Given the description of an element on the screen output the (x, y) to click on. 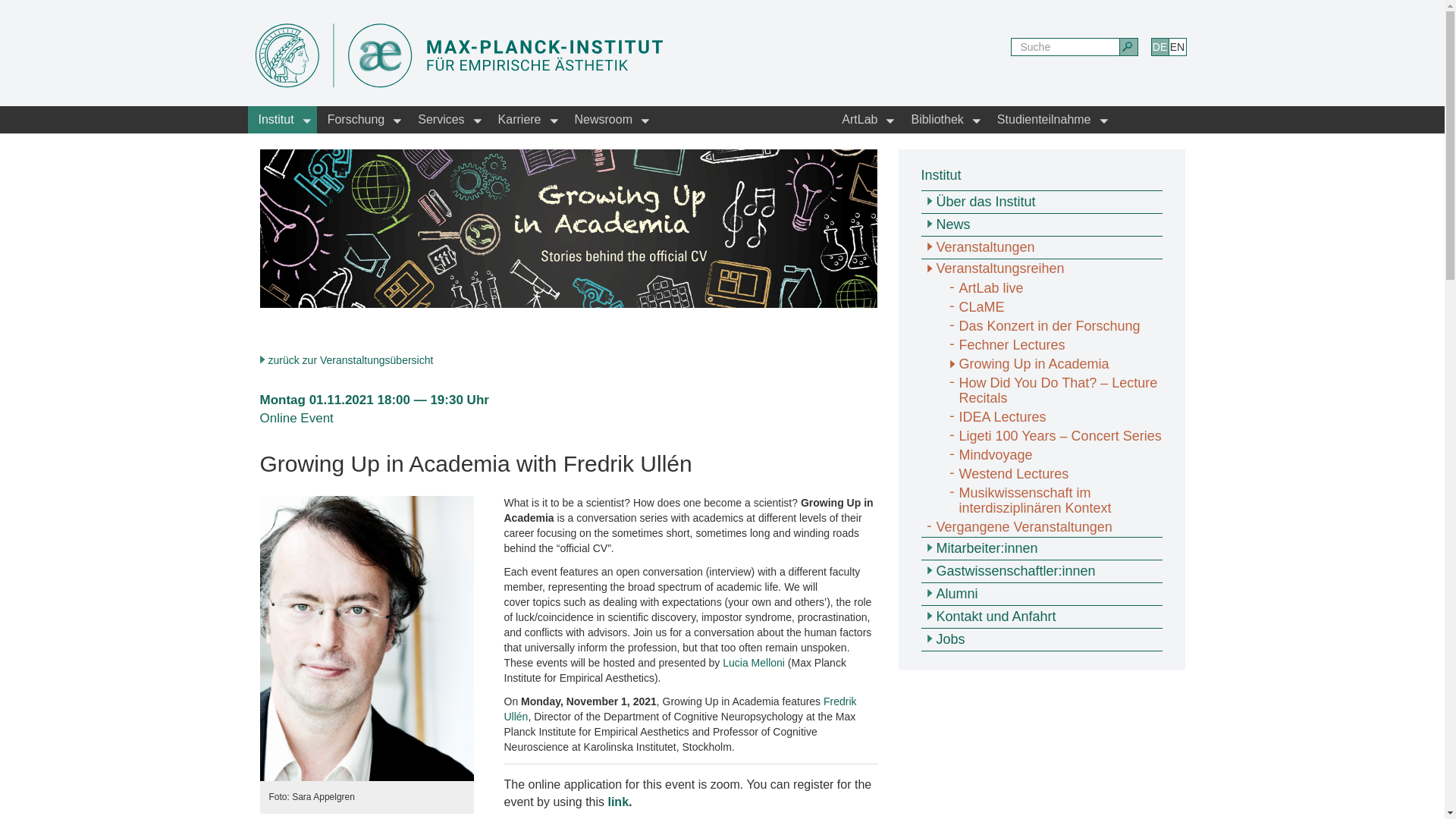
Services (446, 119)
Forschung (362, 119)
Los! (1128, 46)
Forschung (362, 119)
Institut (281, 119)
Karriere (525, 119)
EN (1177, 46)
Institut (281, 119)
Los! (1128, 46)
Newsroom (609, 119)
Los! (1128, 46)
Suche (1064, 46)
